Given the description of an element on the screen output the (x, y) to click on. 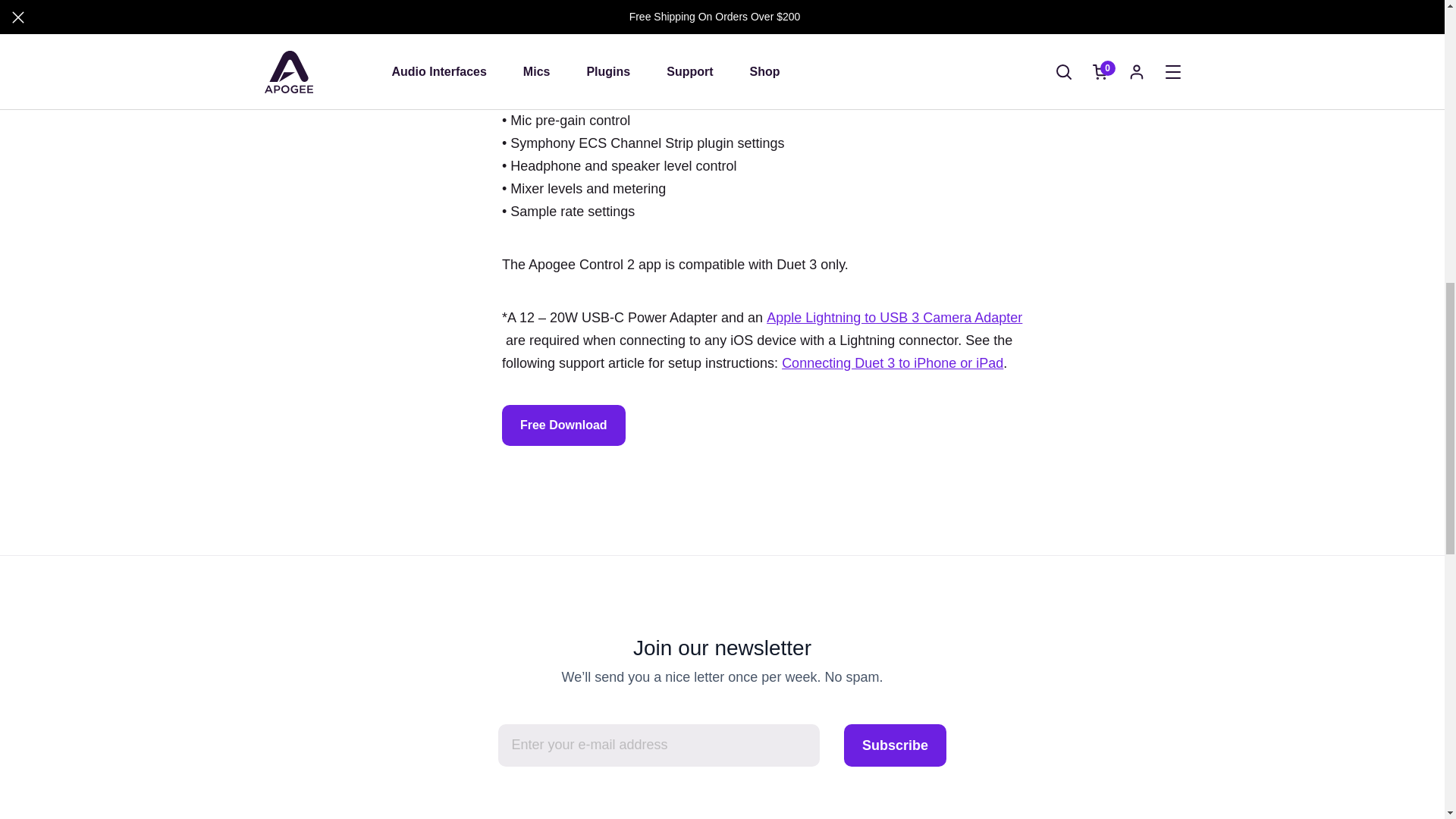
Free Download (563, 425)
Subscribe (895, 744)
Apple Lightning to USB 3 Camera Adapter (894, 317)
Connecting Duet 3 to iPhone or iPad (892, 363)
